Given the description of an element on the screen output the (x, y) to click on. 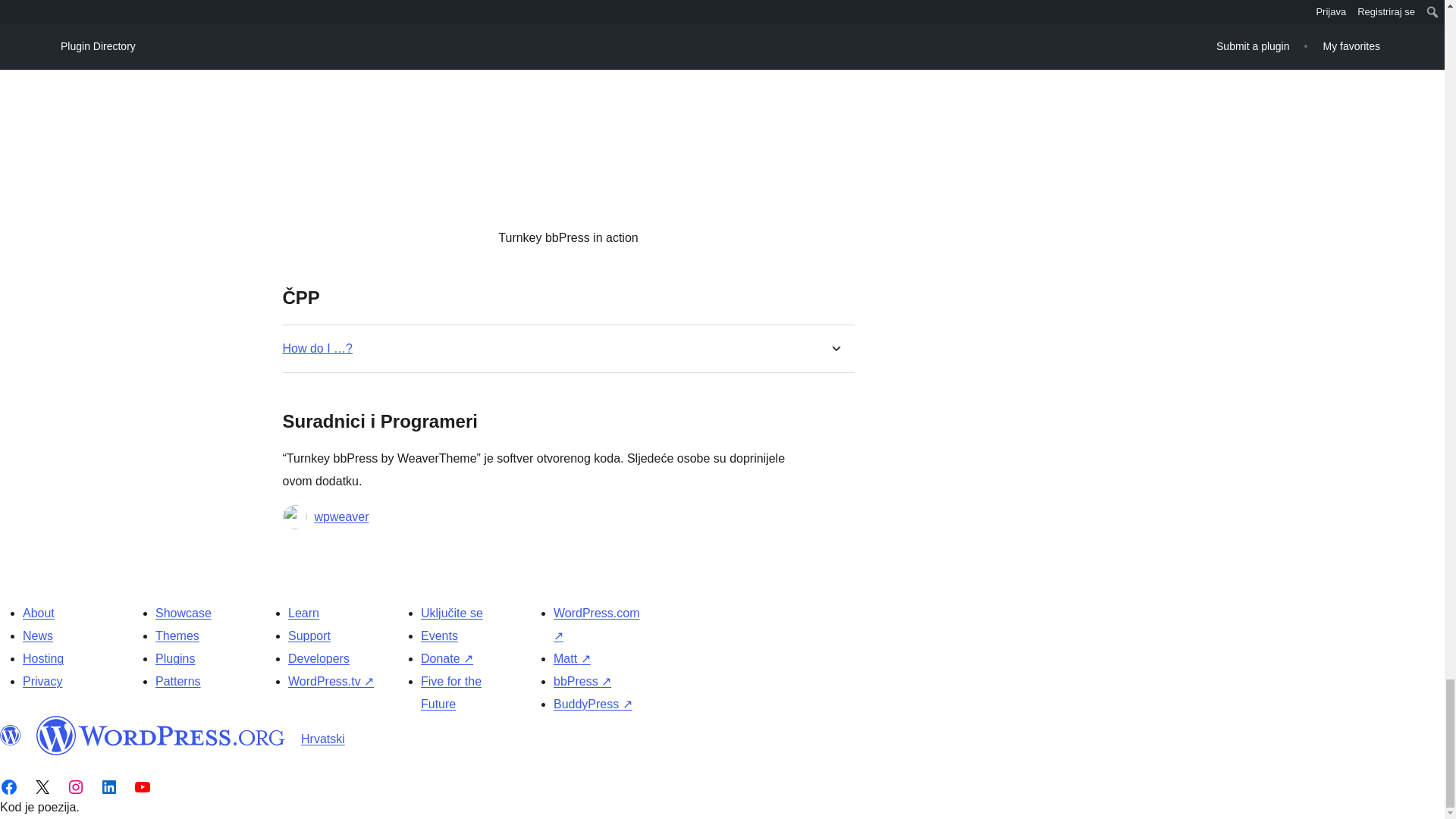
WordPress.org (10, 735)
WordPress.org (160, 735)
